Given the description of an element on the screen output the (x, y) to click on. 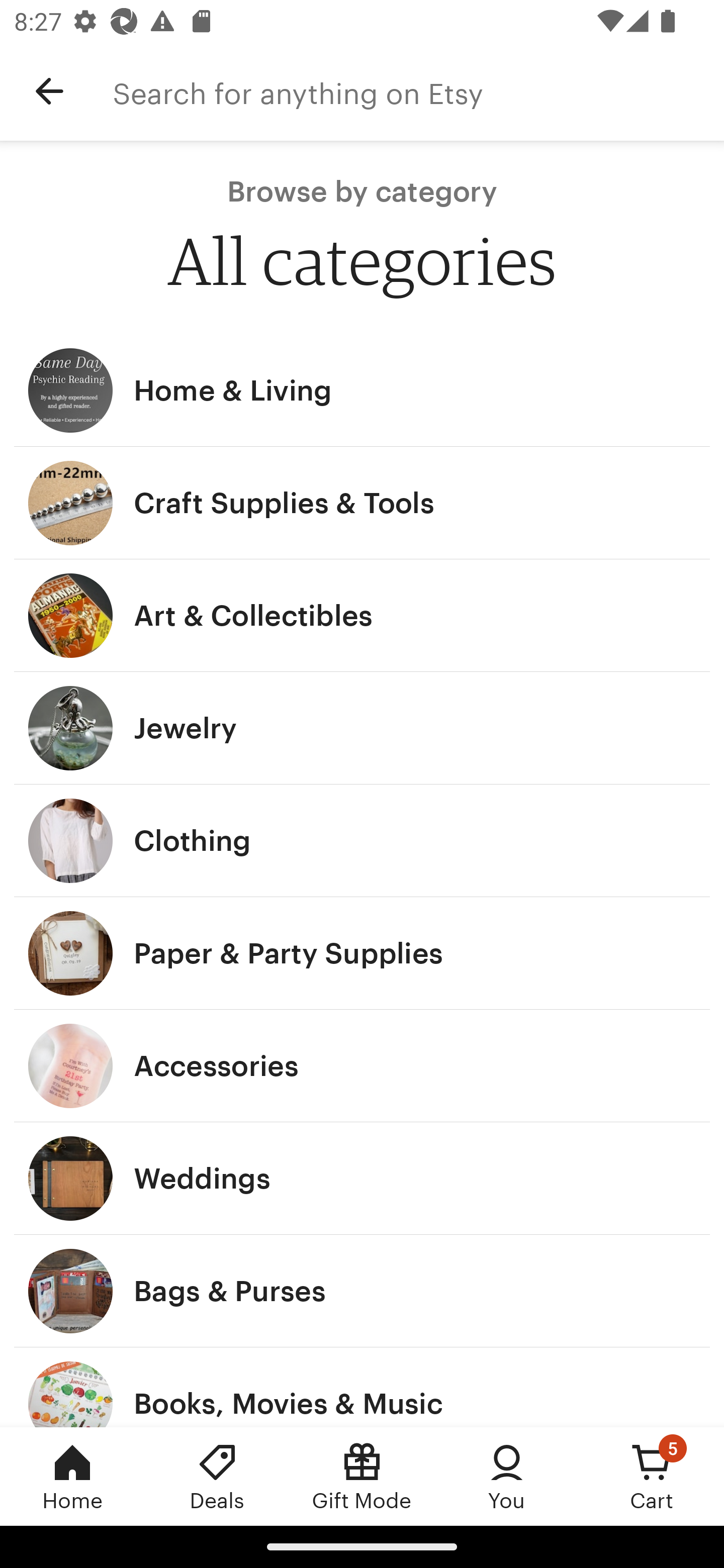
Navigate up (49, 91)
Search for anything on Etsy (418, 91)
Home & Living (361, 389)
Craft Supplies & Tools (361, 502)
Art & Collectibles (361, 615)
Jewelry (361, 728)
Clothing (361, 840)
Paper & Party Supplies (361, 952)
Accessories (361, 1065)
Weddings (361, 1178)
Bags & Purses (361, 1290)
Books, Movies & Music (361, 1386)
Deals (216, 1475)
Gift Mode (361, 1475)
You (506, 1475)
Cart, 5 new notifications Cart (651, 1475)
